Given the description of an element on the screen output the (x, y) to click on. 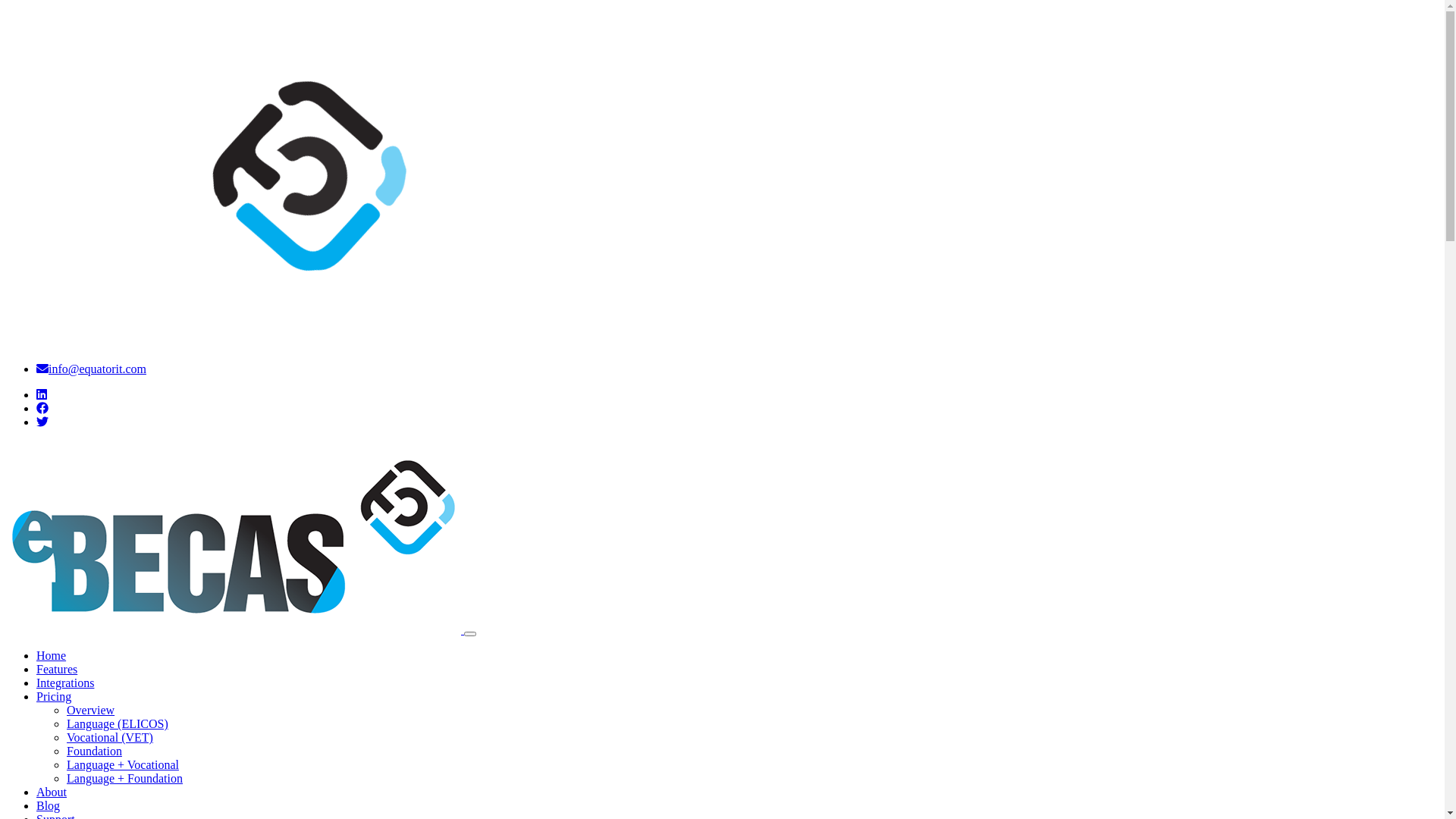
Language + Vocational Element type: text (122, 764)
Home Element type: text (50, 655)
Foundation Element type: text (94, 750)
Pricing Element type: text (53, 696)
Overview Element type: text (90, 709)
info@equatorit.com Element type: text (91, 368)
Vocational (VET) Element type: text (109, 737)
Skip to content Element type: text (5, 361)
Blog Element type: text (47, 805)
About Element type: text (51, 791)
Language + Foundation Element type: text (124, 777)
Integrations Element type: text (65, 682)
Features Element type: text (56, 668)
Language (ELICOS) Element type: text (117, 723)
